Given the description of an element on the screen output the (x, y) to click on. 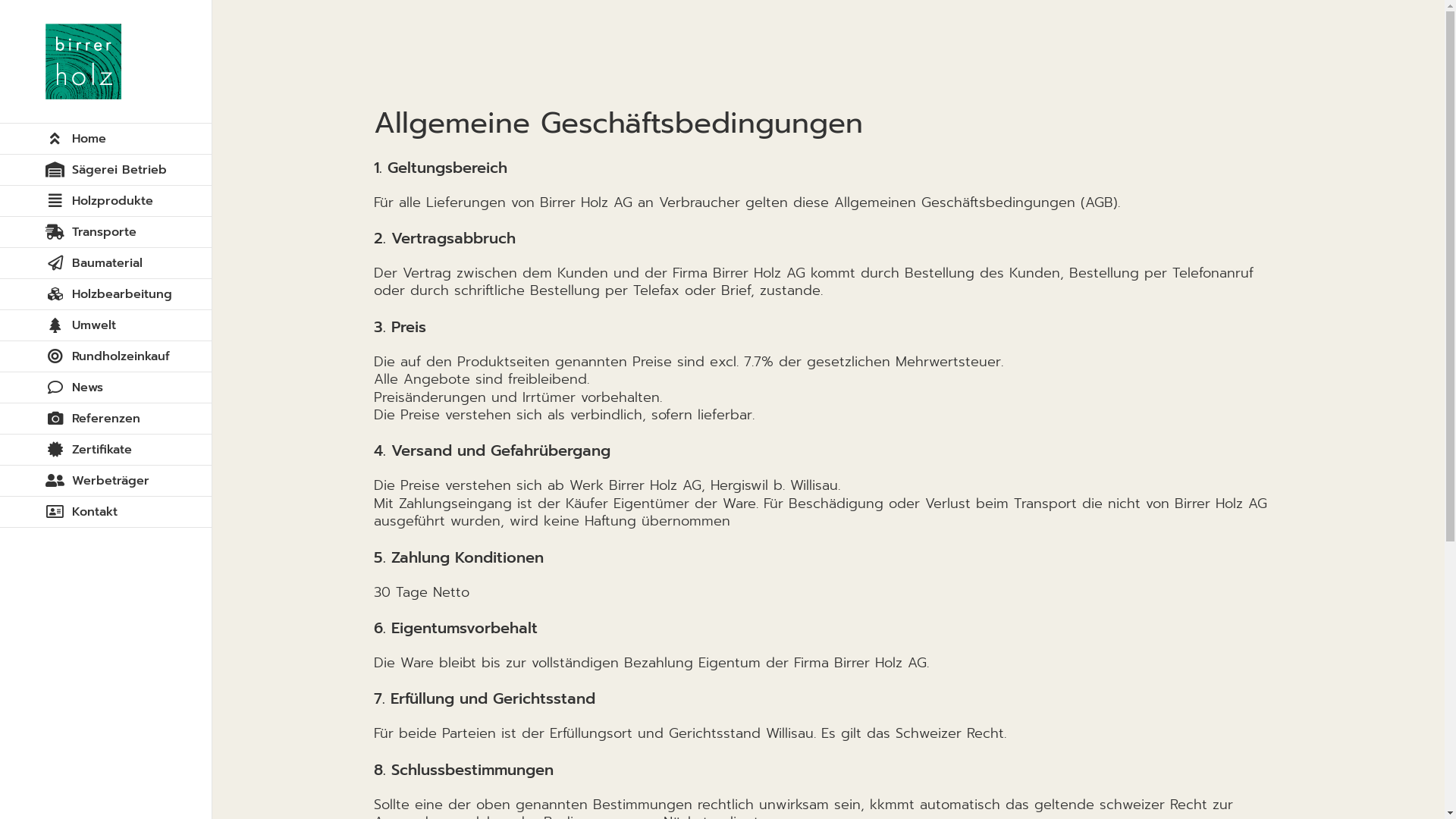
Rundholzeinkauf Element type: text (106, 356)
Referenzen Element type: text (106, 418)
Baumaterial Element type: text (106, 263)
Holzprodukte Element type: text (106, 200)
Holzbearbeitung Element type: text (106, 294)
News Element type: text (106, 387)
Zertifikate Element type: text (106, 449)
Kontakt Element type: text (106, 511)
Transporte Element type: text (106, 231)
Umwelt Element type: text (106, 325)
Home Element type: text (106, 138)
